Given the description of an element on the screen output the (x, y) to click on. 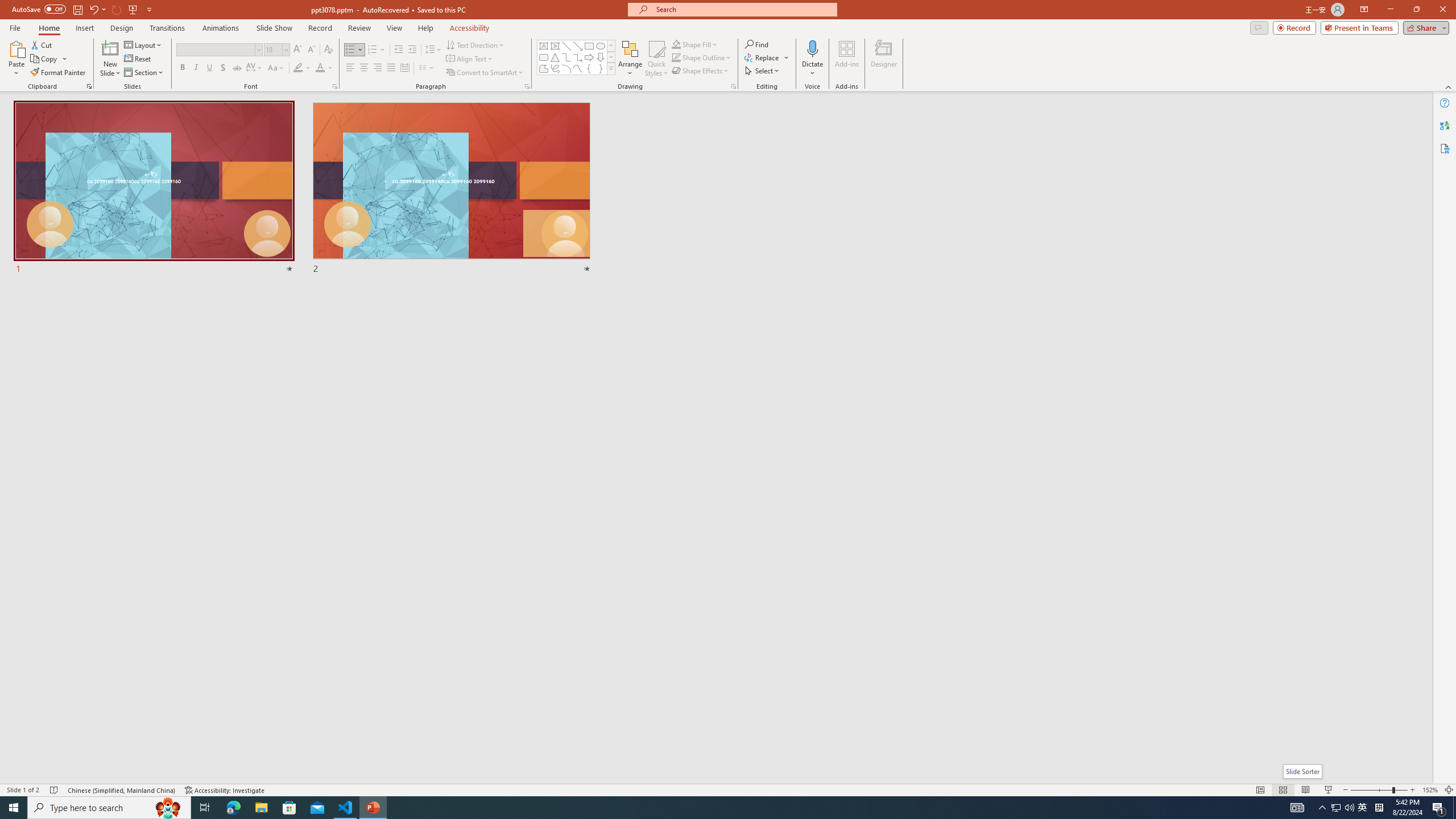
Shape Outline Green, Accent 1 (675, 56)
Shape Fill Dark Green, Accent 2 (675, 44)
